Given the description of an element on the screen output the (x, y) to click on. 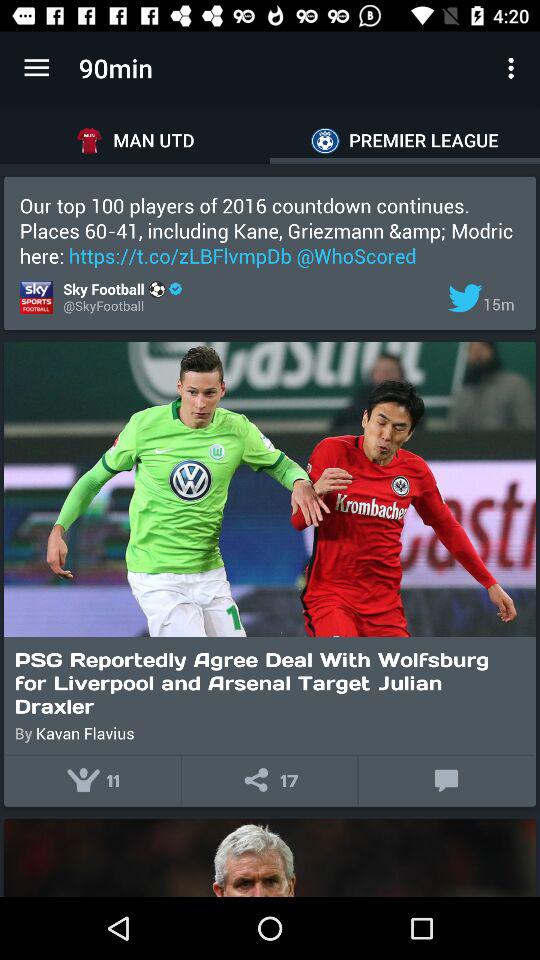
tap our top 100 icon (269, 230)
